Given the description of an element on the screen output the (x, y) to click on. 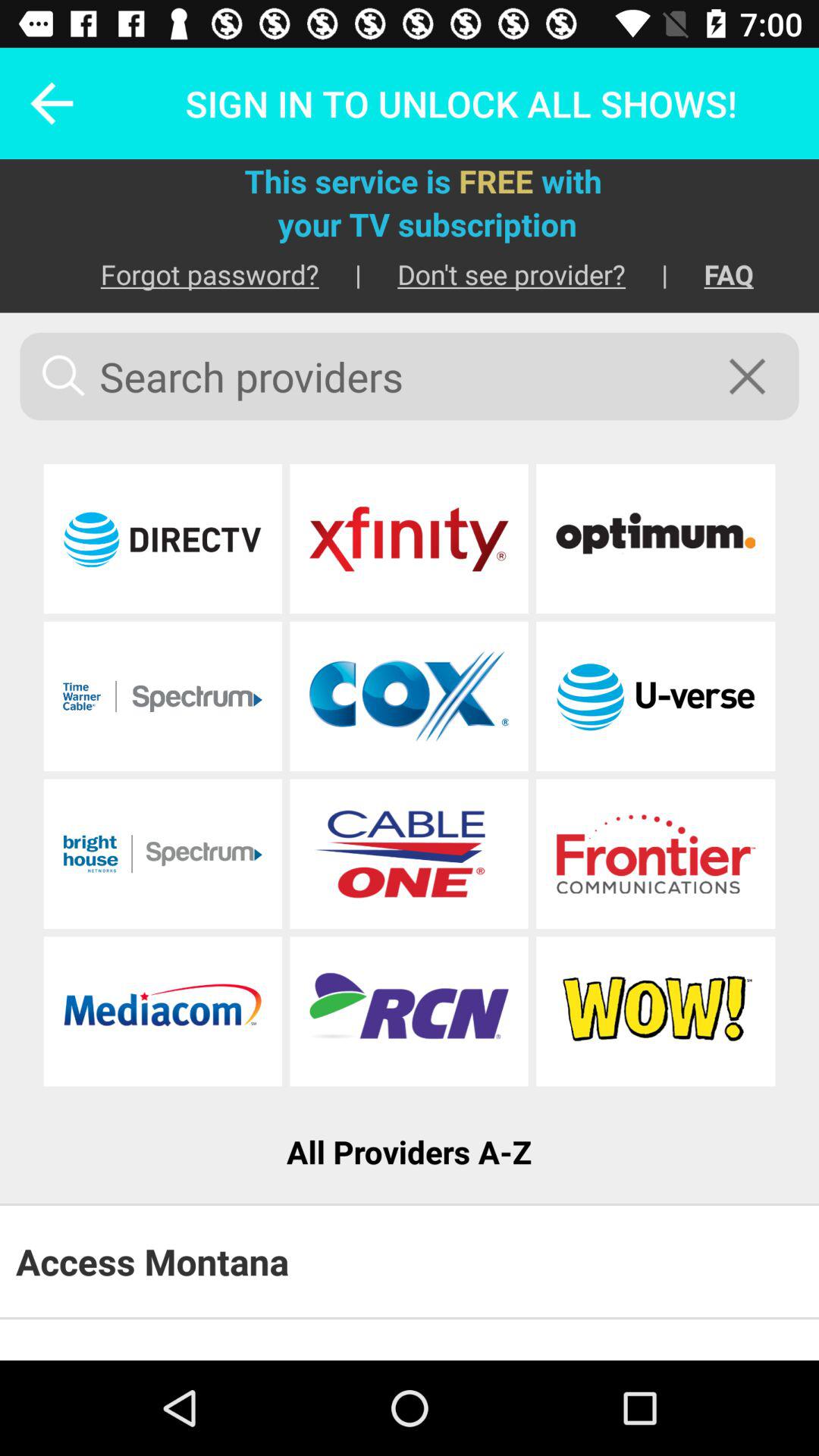
launch icon below forgot password? item (409, 376)
